Given the description of an element on the screen output the (x, y) to click on. 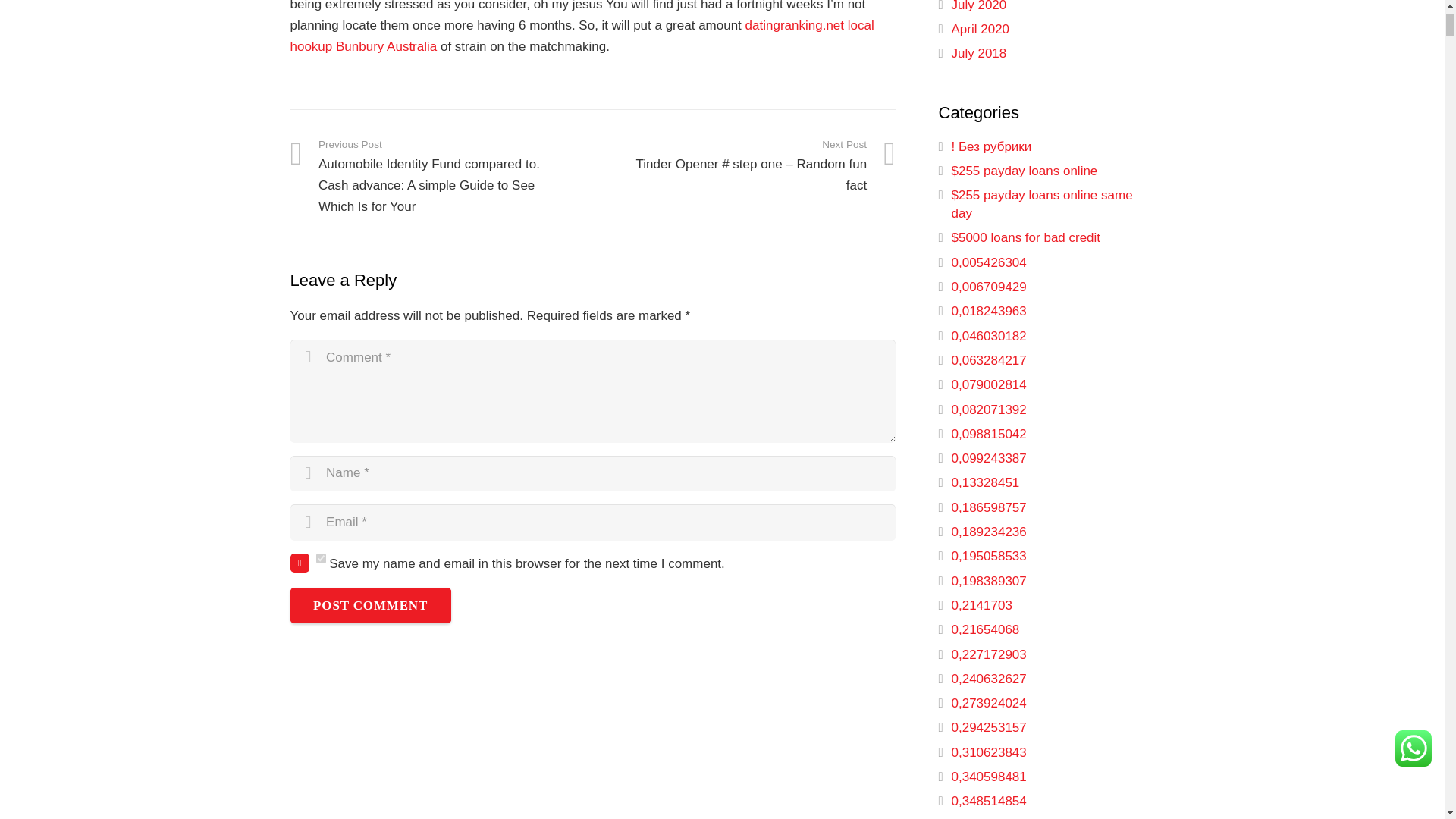
POST COMMENT (369, 606)
on (319, 558)
datingranking.net local hookup Bunbury Australia (581, 36)
